Given the description of an element on the screen output the (x, y) to click on. 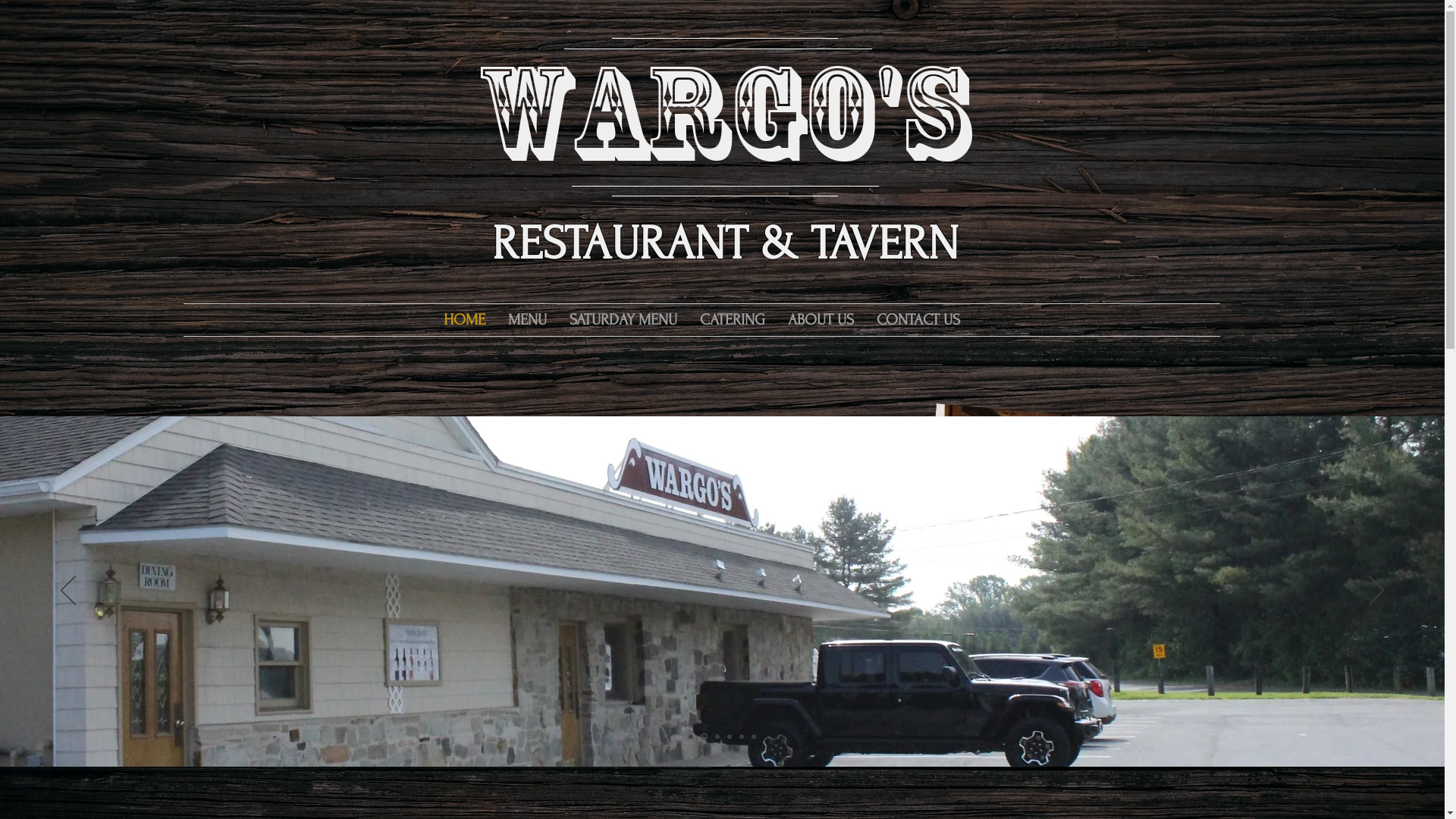
MENU Element type: text (526, 319)
ABOUT US Element type: text (820, 319)
HOME Element type: text (464, 319)
Wargo's Element type: text (722, 111)
CONTACT US Element type: text (917, 319)
SATURDAY MENU Element type: text (623, 319)
CATERING Element type: text (732, 319)
